Given the description of an element on the screen output the (x, y) to click on. 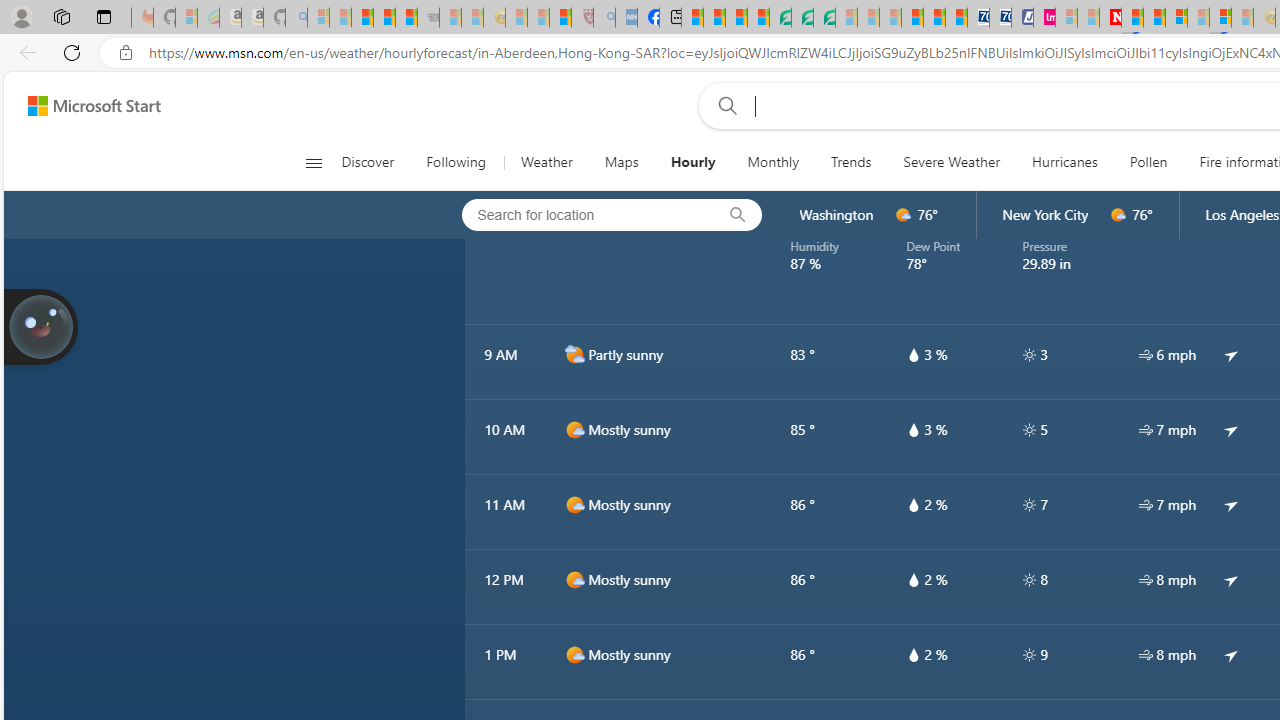
hourlyTable/uv (1028, 654)
Hurricanes (1064, 162)
The Weather Channel - MSN (362, 17)
Pollen (1147, 162)
Join us in planting real trees to help our planet! (40, 325)
d2000 (574, 354)
hourlyTable/drop (913, 654)
Local - MSN (560, 17)
